Given the description of an element on the screen output the (x, y) to click on. 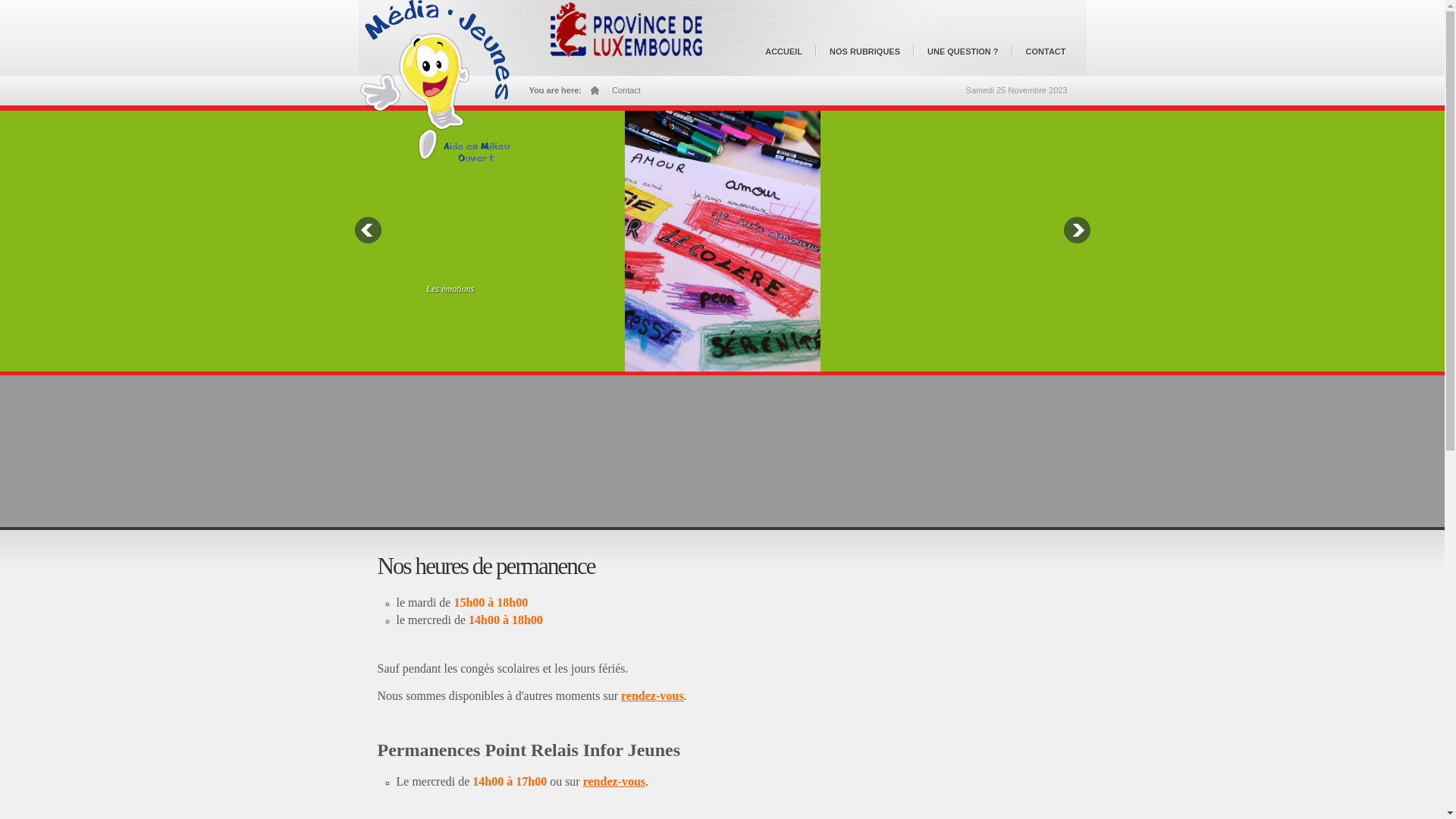
CONTACT Element type: text (1049, 58)
ACCUEIL Element type: text (787, 58)
NOS RUBRIQUES Element type: text (868, 58)
UNE QUESTION ? Element type: text (966, 58)
